Given the description of an element on the screen output the (x, y) to click on. 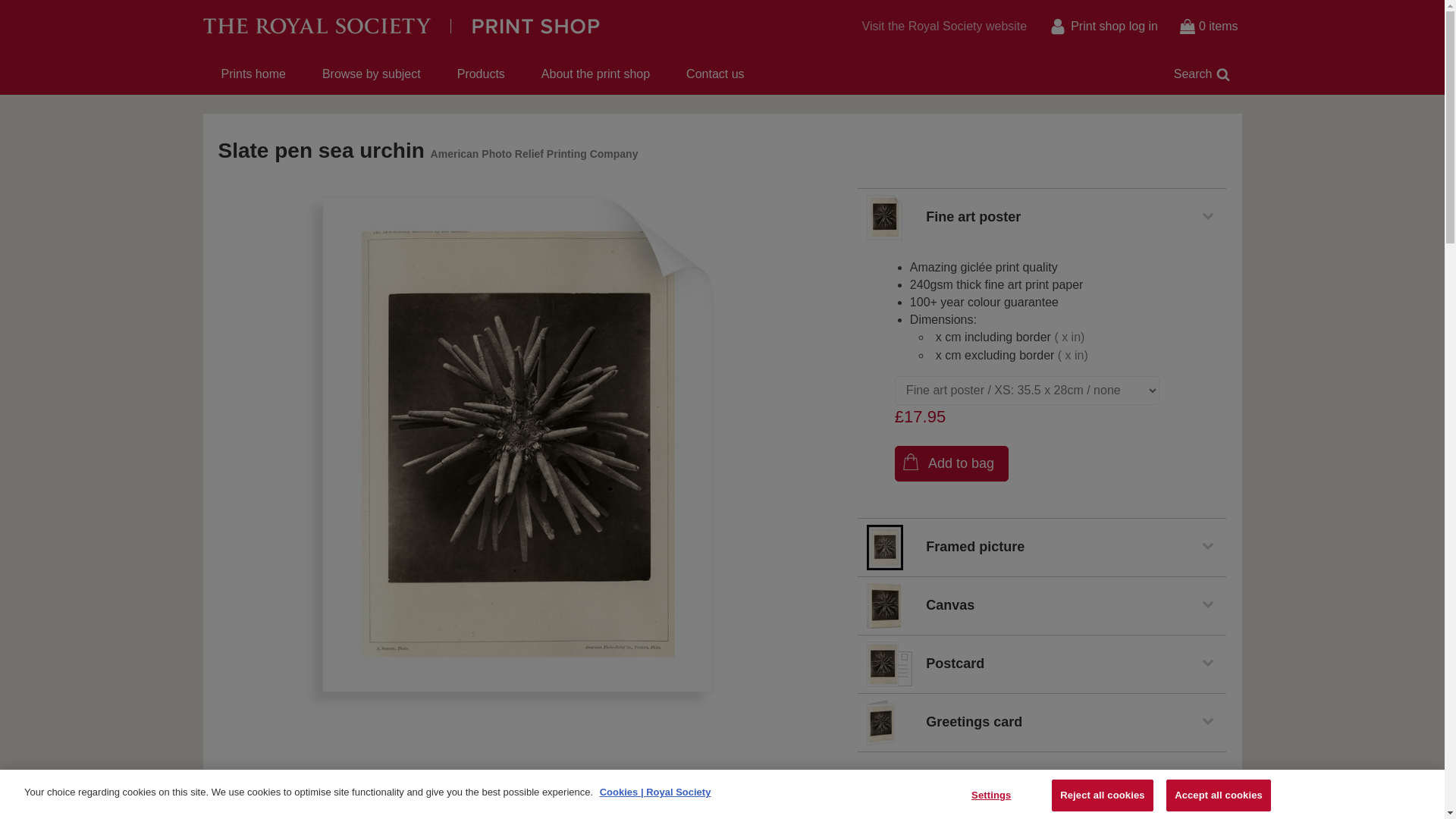
Contact us (714, 74)
Fine art poster (1041, 217)
0 items (1209, 26)
About the print shop (595, 74)
Print shop log in (1102, 26)
Browse by subject (371, 74)
American Photo Relief Printing Company (534, 153)
Canvas (1041, 605)
Prints home (253, 74)
Contact us (714, 74)
Basket (1209, 26)
Products (480, 74)
Browse by subject (371, 74)
Homepage (476, 25)
Share (896, 784)
